Given the description of an element on the screen output the (x, y) to click on. 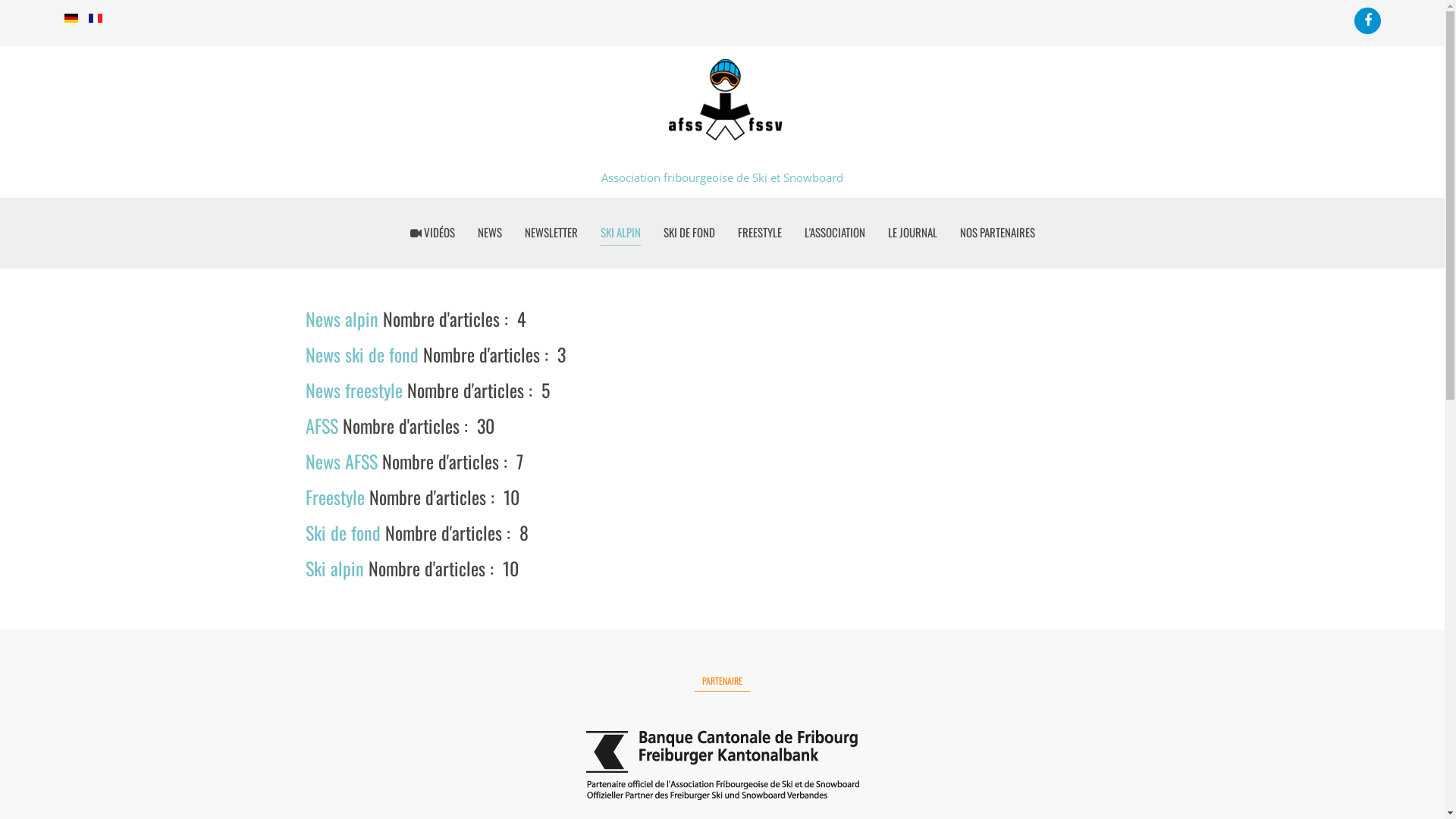
Banque cantonale de Fribourg Element type: hover (721, 765)
FREESTYLE Element type: text (759, 231)
Ski de fond Element type: text (341, 532)
NEWSLETTER Element type: text (550, 231)
AFSS Element type: text (320, 425)
News freestyle Element type: text (352, 389)
NOS PARTENAIRES Element type: text (997, 231)
SKI DE FOND Element type: text (688, 231)
Association fribourgeoise de Ski et Snowboard Element type: text (722, 116)
News ski de fond Element type: text (360, 353)
News alpin Element type: text (340, 318)
News AFSS Element type: text (340, 460)
LE JOURNAL Element type: text (911, 231)
L'ASSOCIATION Element type: text (833, 231)
Freestyle Element type: text (334, 496)
NEWS Element type: text (489, 231)
German Element type: hover (71, 17)
Ski alpin Element type: text (333, 567)
SKI ALPIN Element type: text (620, 231)
